Given the description of an element on the screen output the (x, y) to click on. 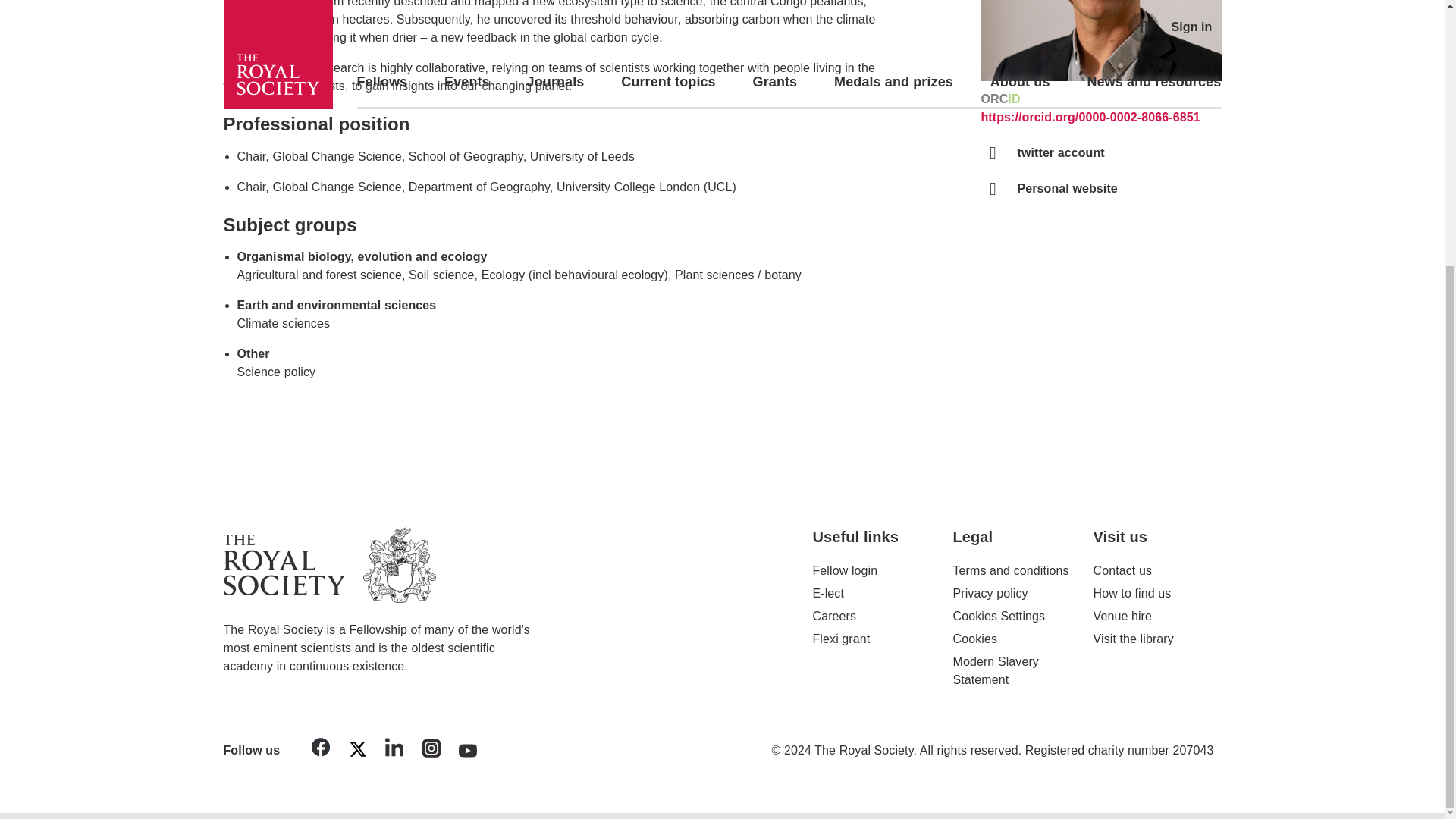
LinkedIn (393, 750)
Twitter (357, 752)
Instagram (431, 751)
Facebook (320, 750)
YouTube (467, 753)
